Given the description of an element on the screen output the (x, y) to click on. 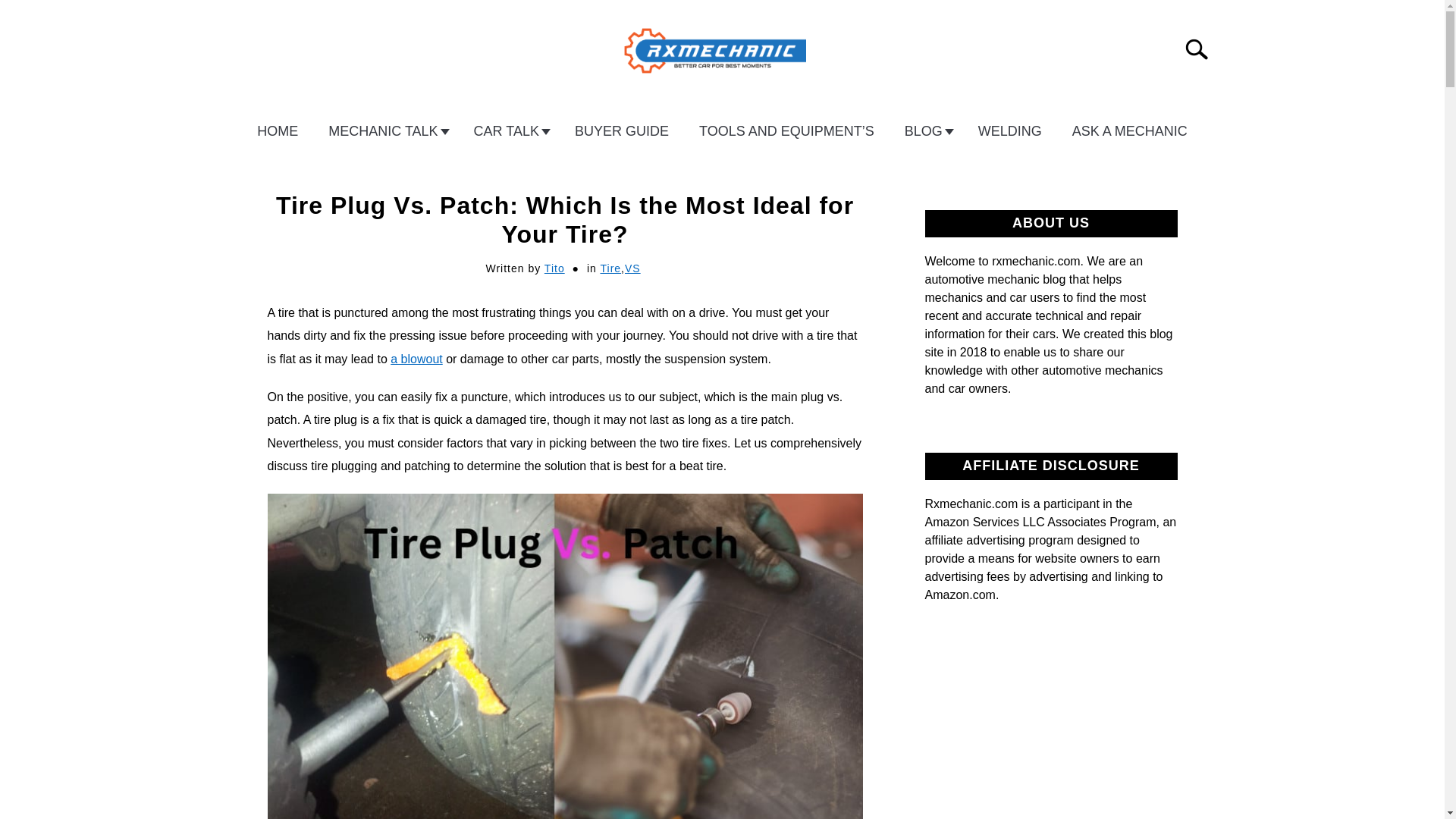
HOME (277, 131)
Search (1203, 49)
BUYER GUIDE (621, 131)
BLOG (925, 131)
MECHANIC TALK (385, 131)
Tito (554, 268)
VS (632, 268)
Tire (610, 268)
CAR TALK (508, 131)
ASK A MECHANIC (1129, 131)
